Given the description of an element on the screen output the (x, y) to click on. 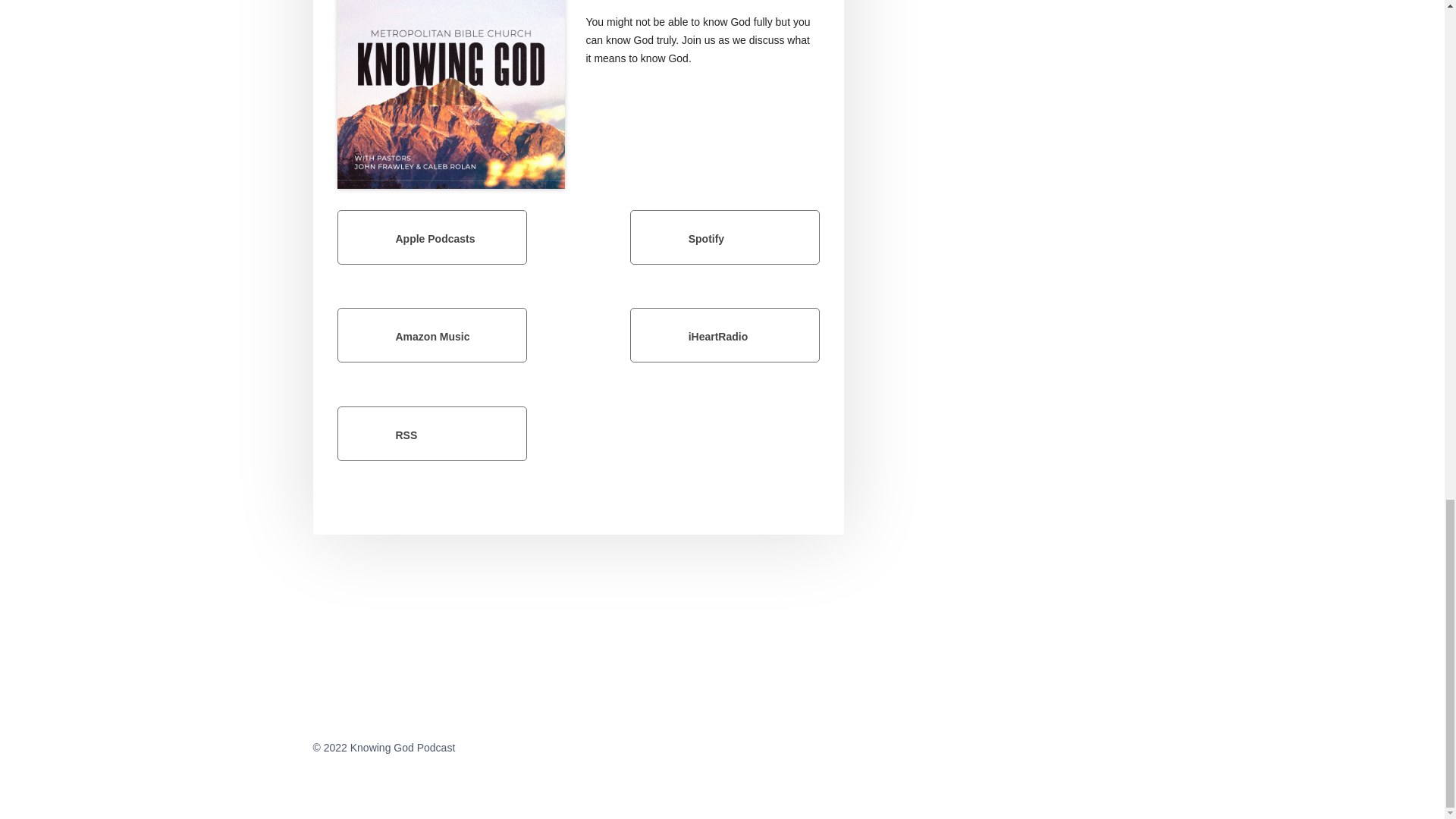
Spotify (724, 236)
Amazon Music (430, 334)
Knowing God Podcast (450, 94)
iHeartRadio (724, 334)
Apple Podcasts (430, 236)
RSS (430, 433)
Subscribe on Amazon Music (430, 334)
Subscribe on Spotify (724, 236)
Subscribe on iHeartRadio (724, 334)
Subscribe via RSS (430, 433)
Subscribe on Apple Podcasts (430, 236)
